Given the description of an element on the screen output the (x, y) to click on. 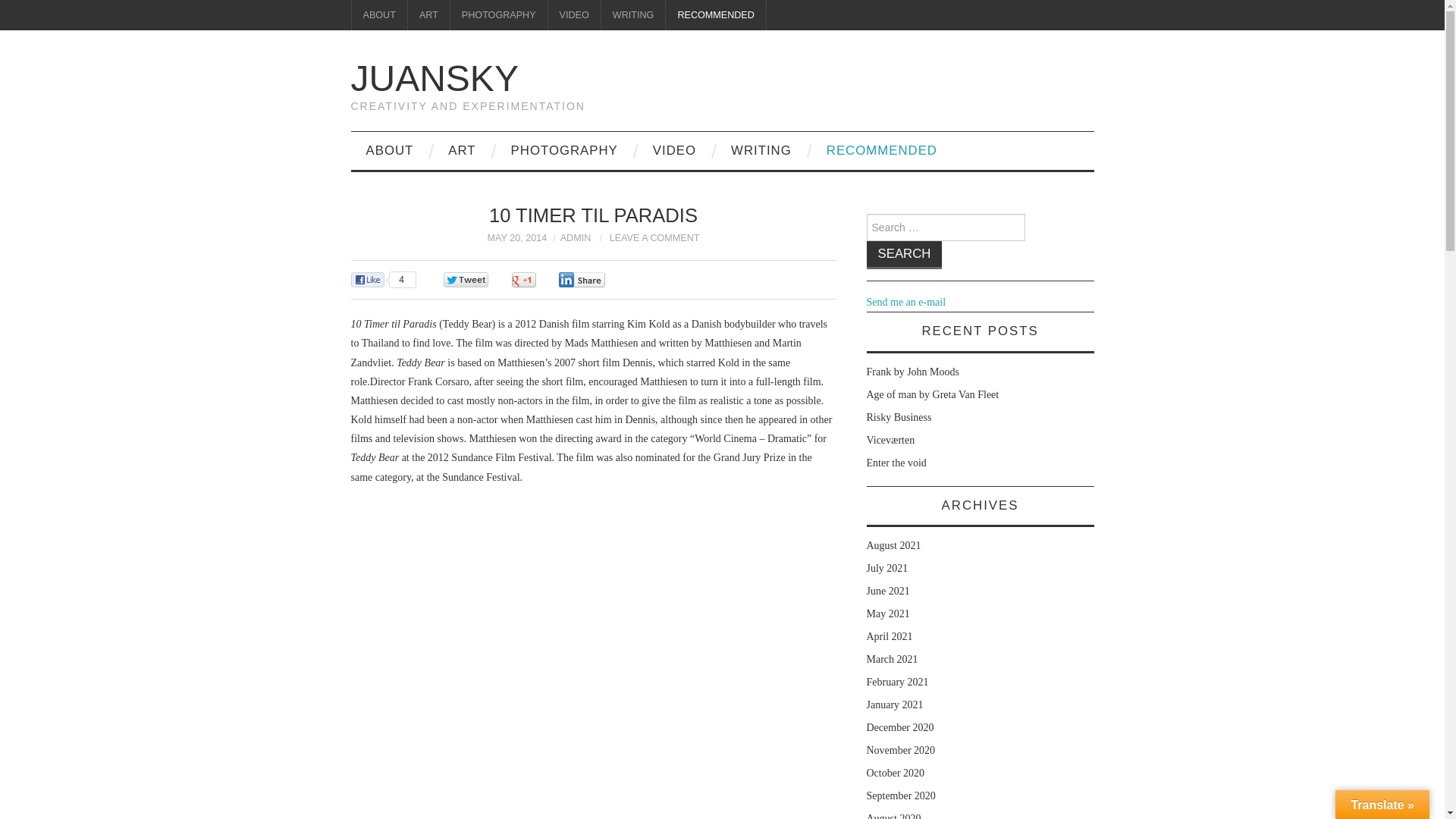
Search for: (945, 226)
Search (904, 254)
ADMIN (575, 237)
JUANSKY (434, 78)
WRITING (761, 150)
LEAVE A COMMENT (655, 237)
Search (904, 254)
MAY 20, 2014 (516, 237)
RECOMMENDED (715, 15)
PHOTOGRAPHY (498, 15)
Be the first one to tweet this article! (481, 280)
VIDEO (573, 15)
ABOUT (389, 150)
VIDEO (674, 150)
ART (461, 150)
